Given the description of an element on the screen output the (x, y) to click on. 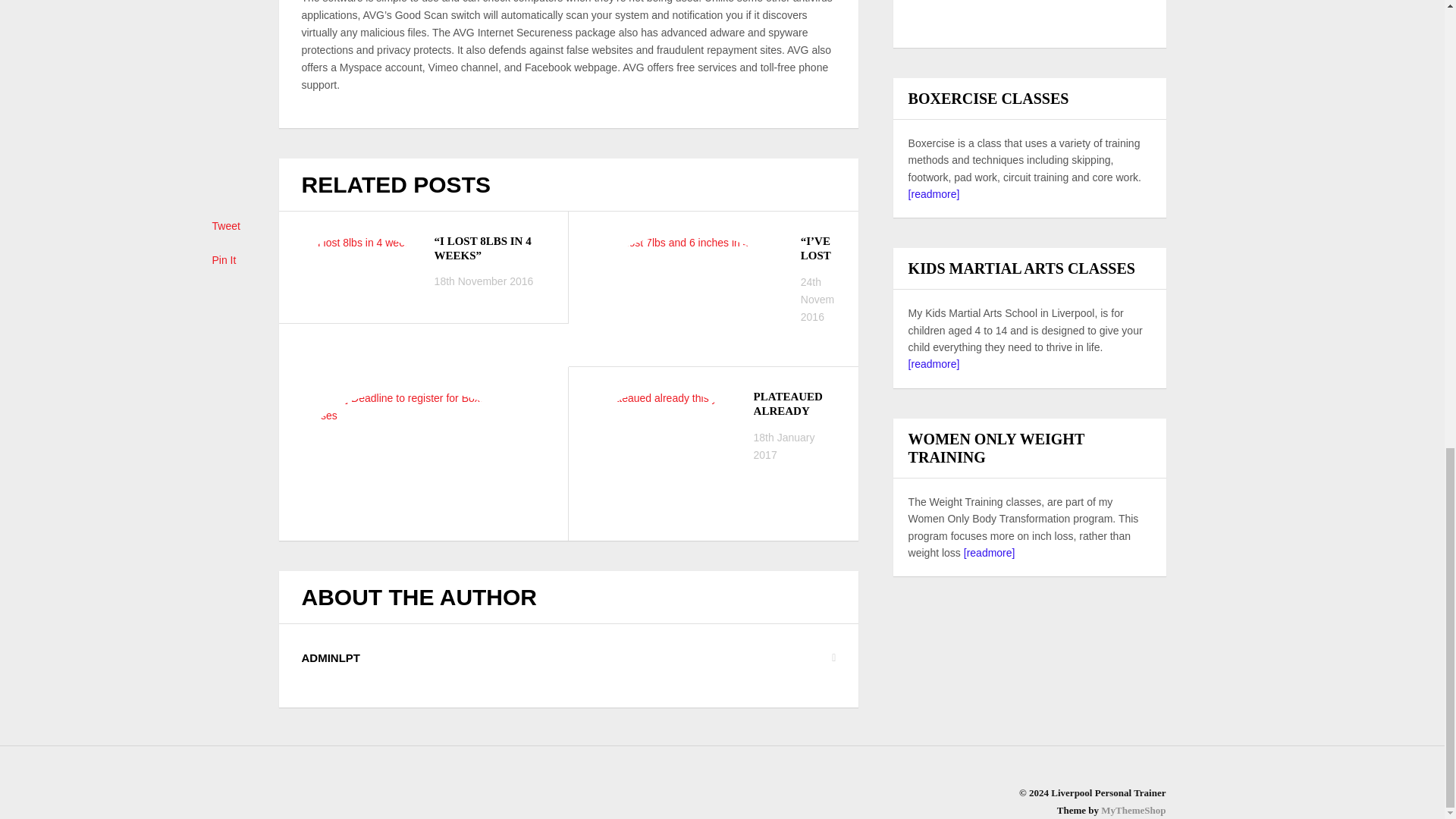
PLATEAUED ALREADY THIS YEAR? (794, 411)
Plateaued already this year? (794, 411)
ADMINLPT (331, 657)
Plateaued already this year? (664, 437)
